Given the description of an element on the screen output the (x, y) to click on. 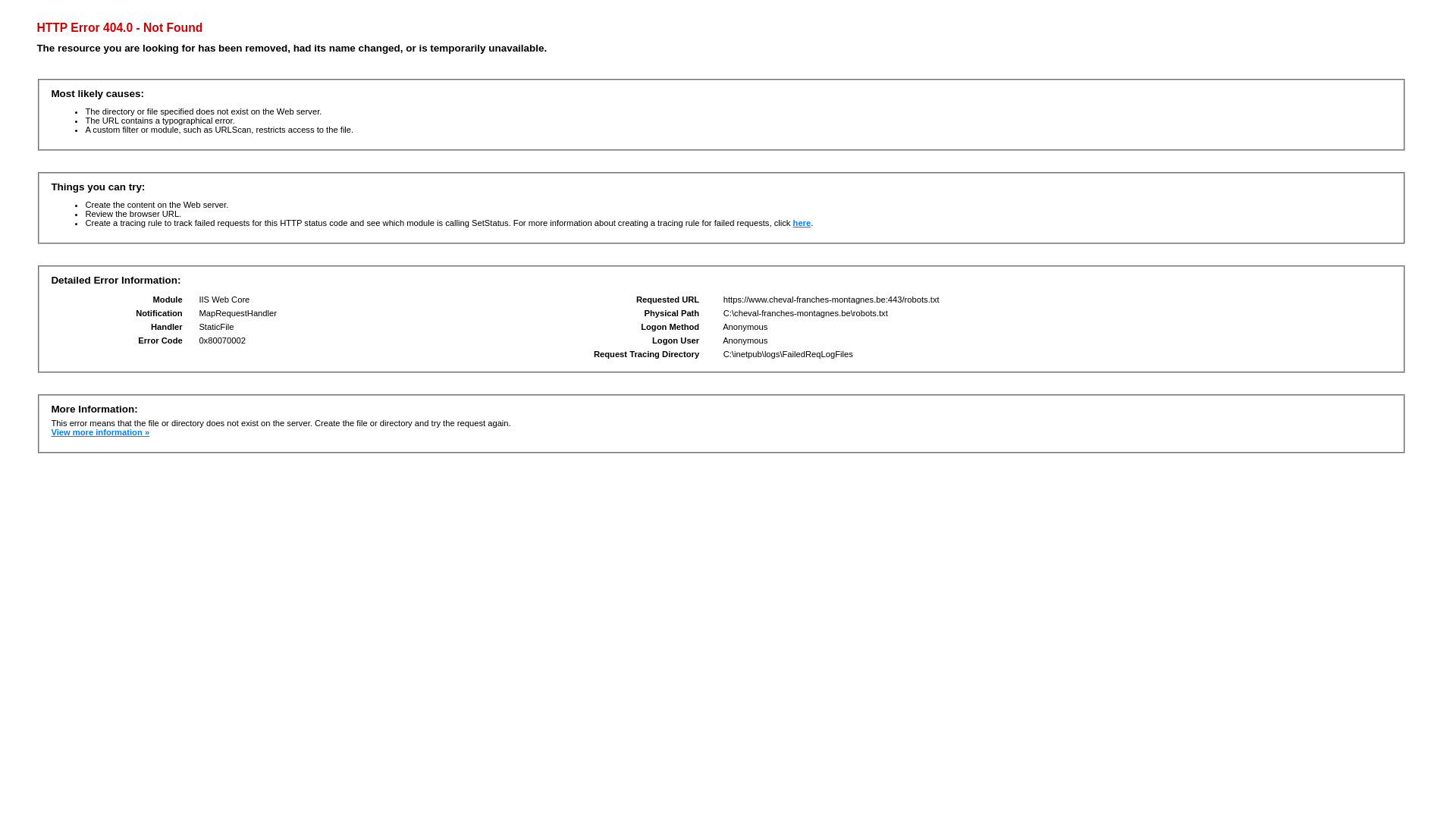
here Element type: text (802, 222)
